Given the description of an element on the screen output the (x, y) to click on. 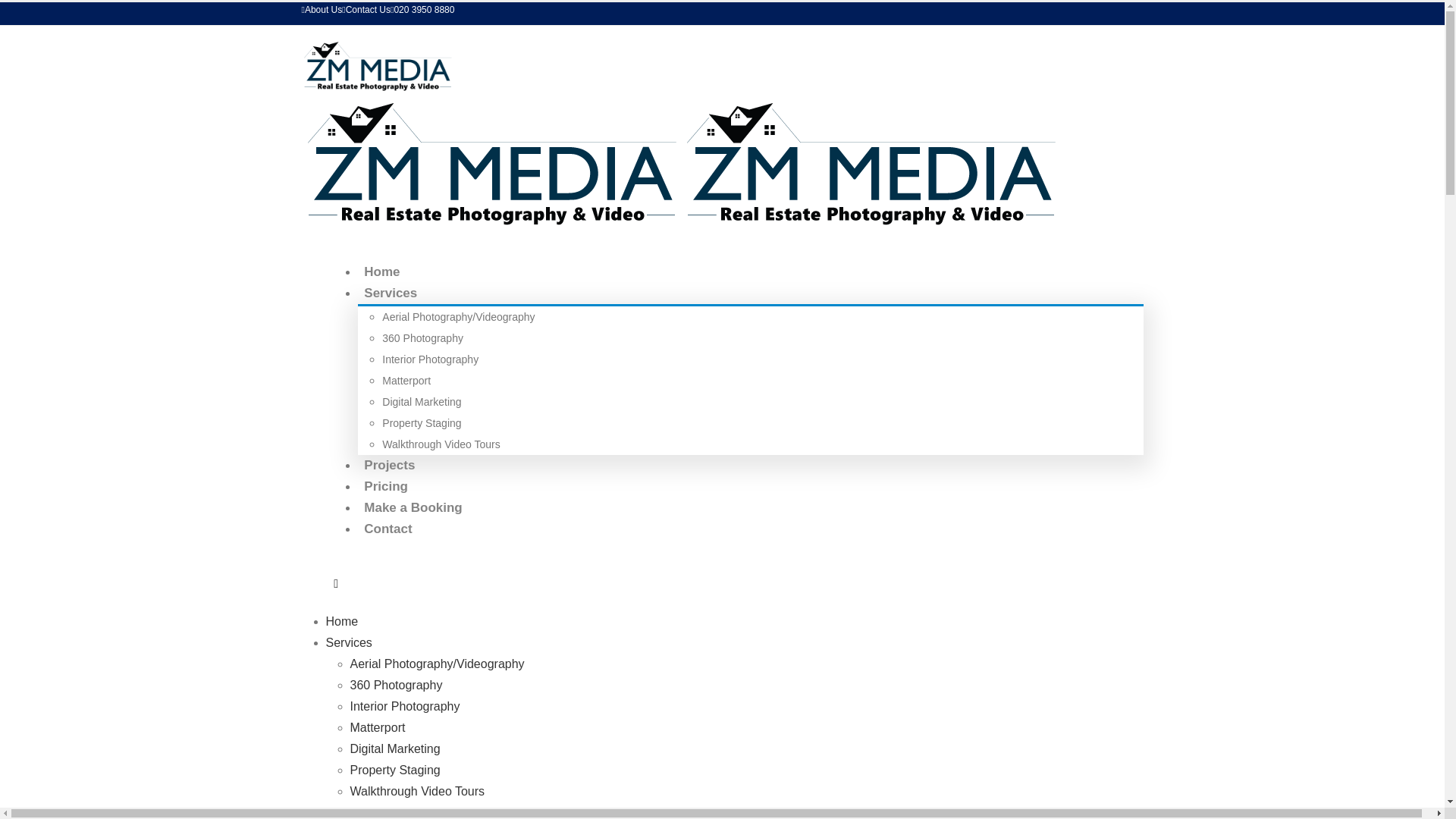
Walkthrough Video Tours (440, 444)
Digital Marketing (421, 401)
Walkthrough Video Tours (417, 790)
ZM Media - Real Estate Photography and Video services (680, 160)
Services (390, 292)
Services (349, 642)
Contact Us (366, 9)
Projects (389, 464)
Contact (387, 528)
Home (382, 271)
Digital Marketing (395, 748)
Matterport (378, 727)
About Us (321, 9)
ZM Media - Real Estate Photography and Video services (376, 64)
Home (342, 621)
